Given the description of an element on the screen output the (x, y) to click on. 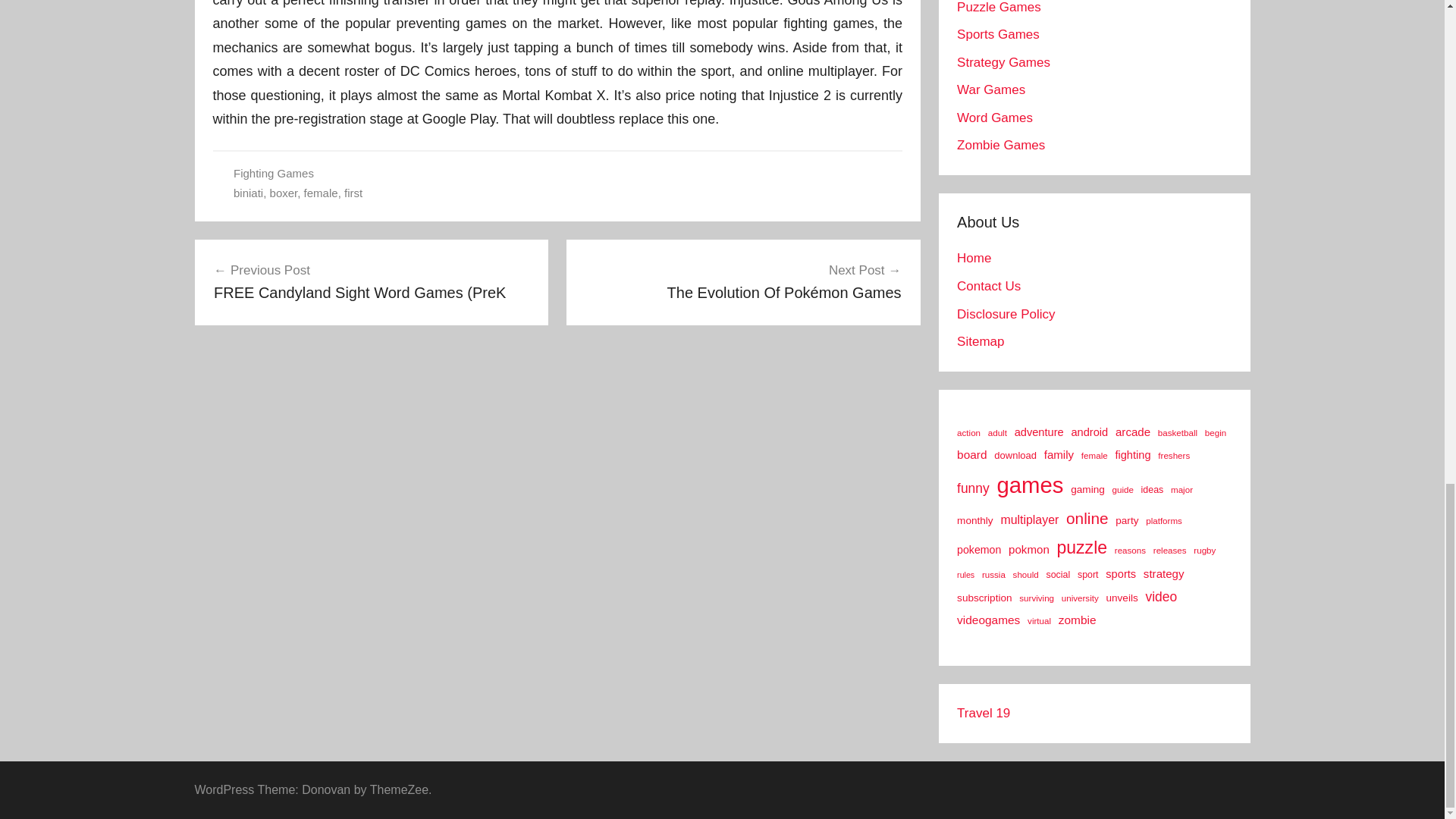
Fighting Games (273, 173)
boxer (283, 192)
female (320, 192)
biniati (247, 192)
first (352, 192)
